Given the description of an element on the screen output the (x, y) to click on. 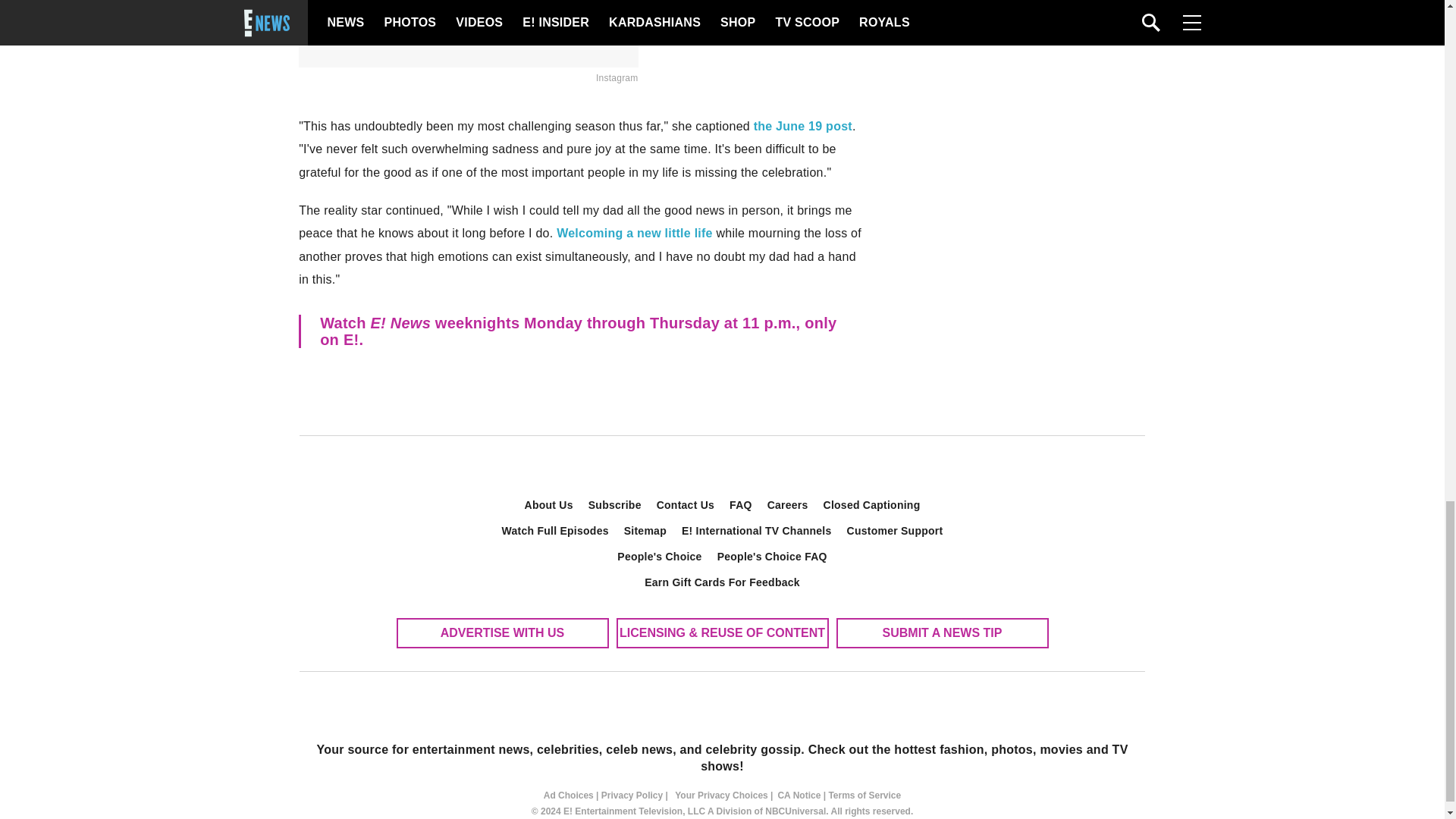
the June 19 post (802, 125)
Welcoming a new little life (634, 232)
